Given the description of an element on the screen output the (x, y) to click on. 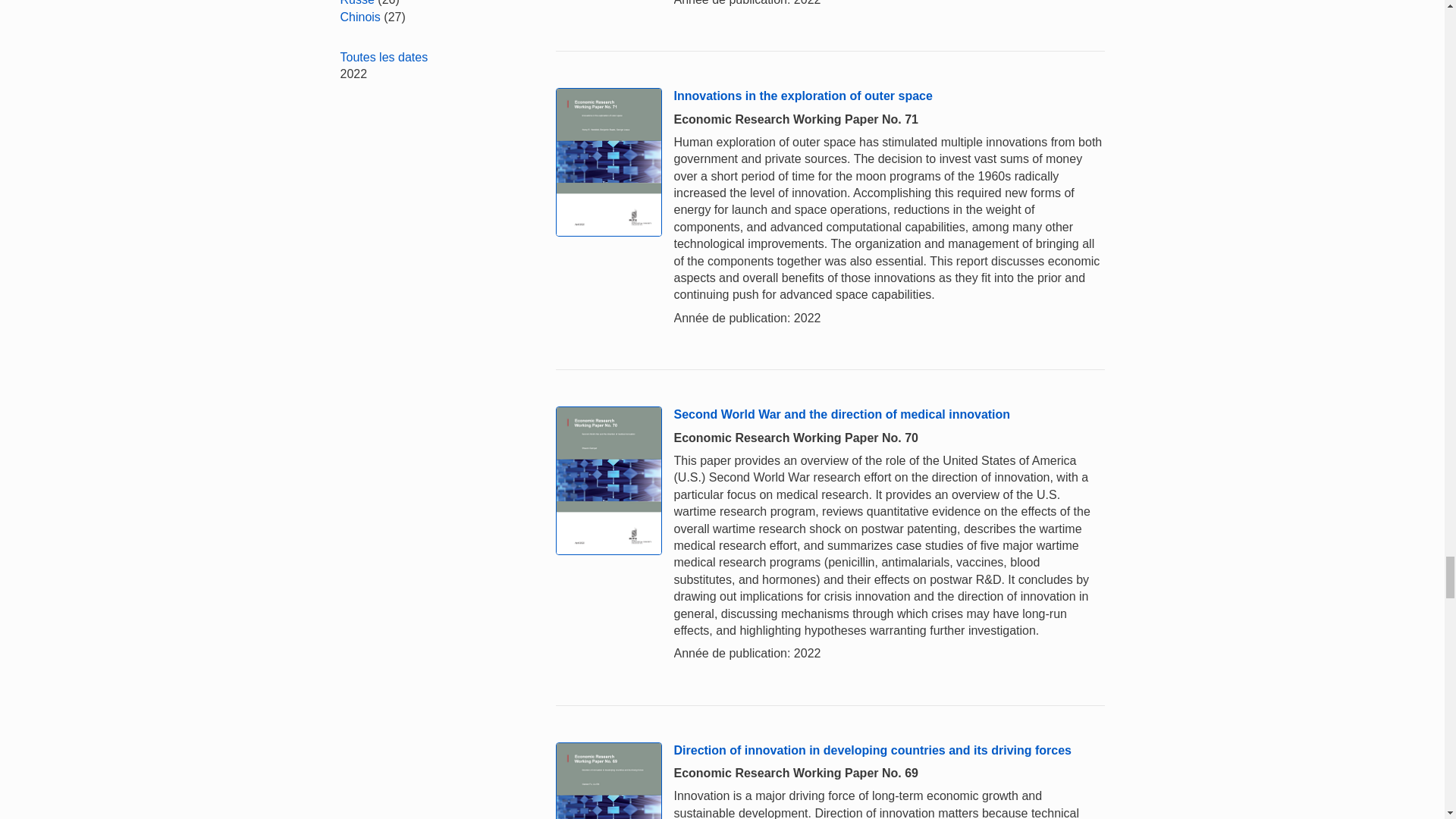
Russe (356, 2)
Chinois (359, 16)
